Given the description of an element on the screen output the (x, y) to click on. 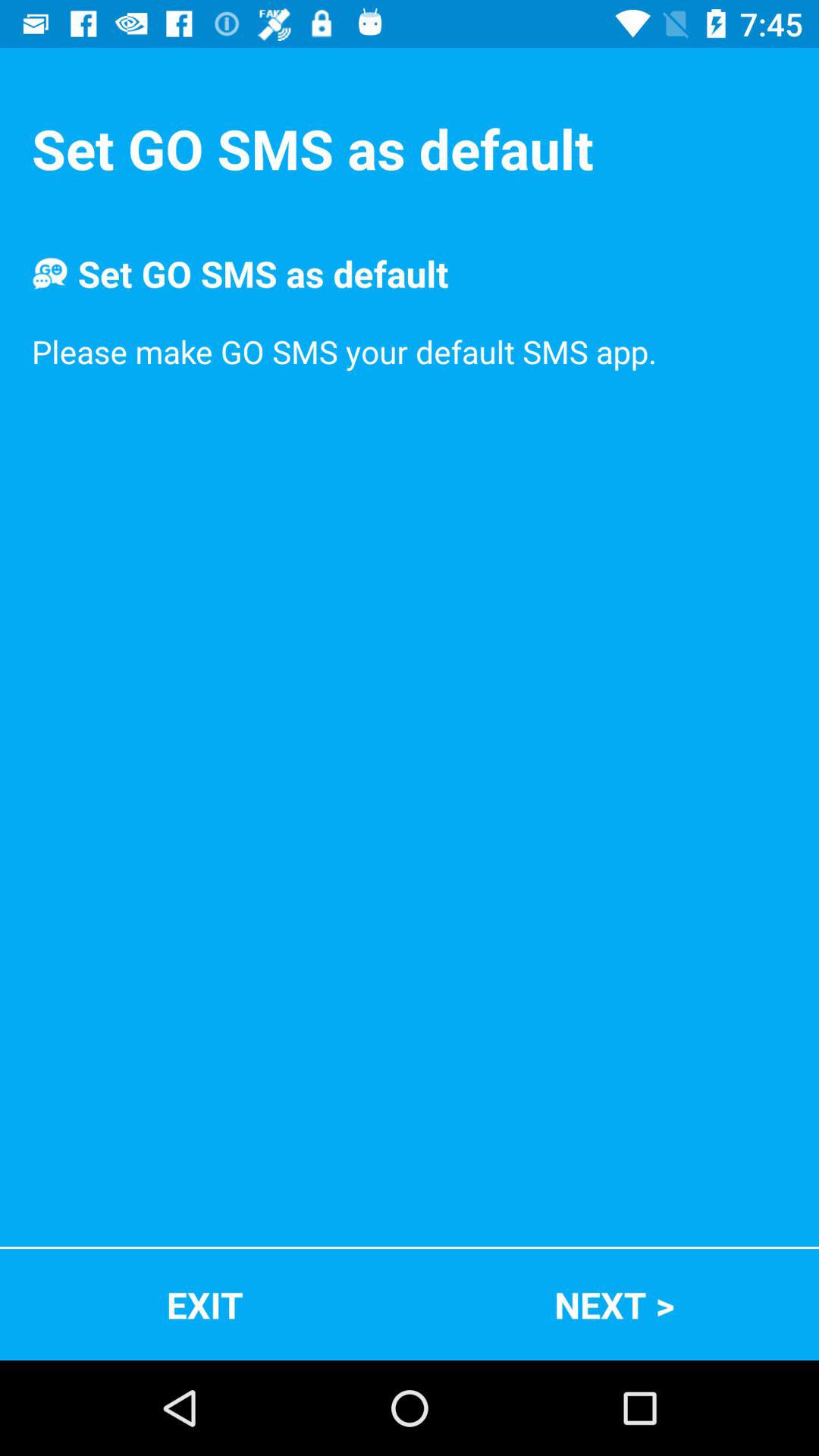
open next > icon (614, 1304)
